Given the description of an element on the screen output the (x, y) to click on. 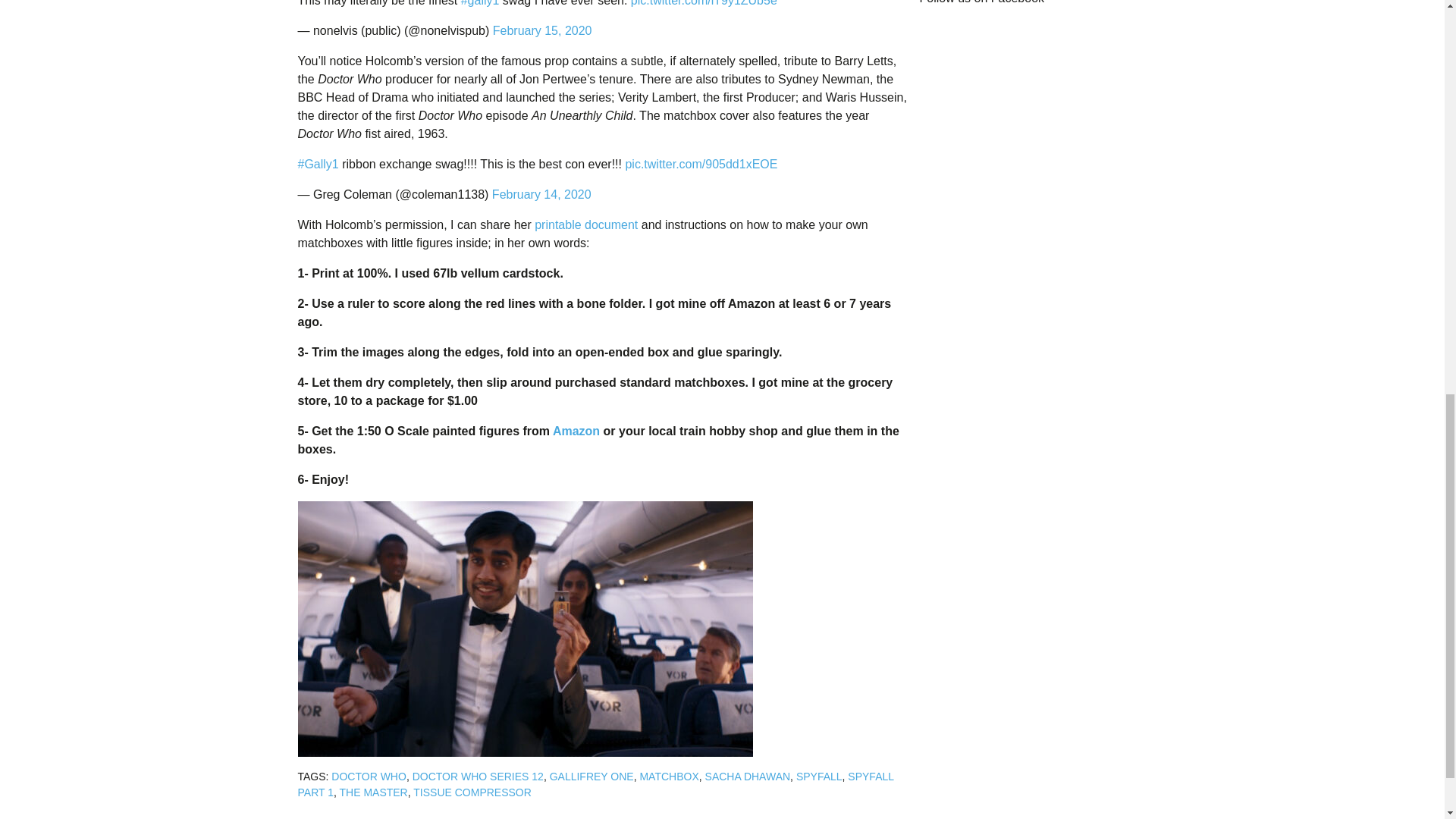
printable document (585, 224)
THE MASTER (373, 792)
DOCTOR WHO SERIES 12 (477, 776)
SPYFALL (819, 776)
SACHA DHAWAN (747, 776)
GALLIFREY ONE (591, 776)
Amazon (576, 431)
SPYFALL PART 1 (595, 784)
DOCTOR WHO (368, 776)
MATCHBOX (668, 776)
TISSUE COMPRESSOR (472, 792)
February 15, 2020 (542, 30)
February 14, 2020 (541, 194)
